Given the description of an element on the screen output the (x, y) to click on. 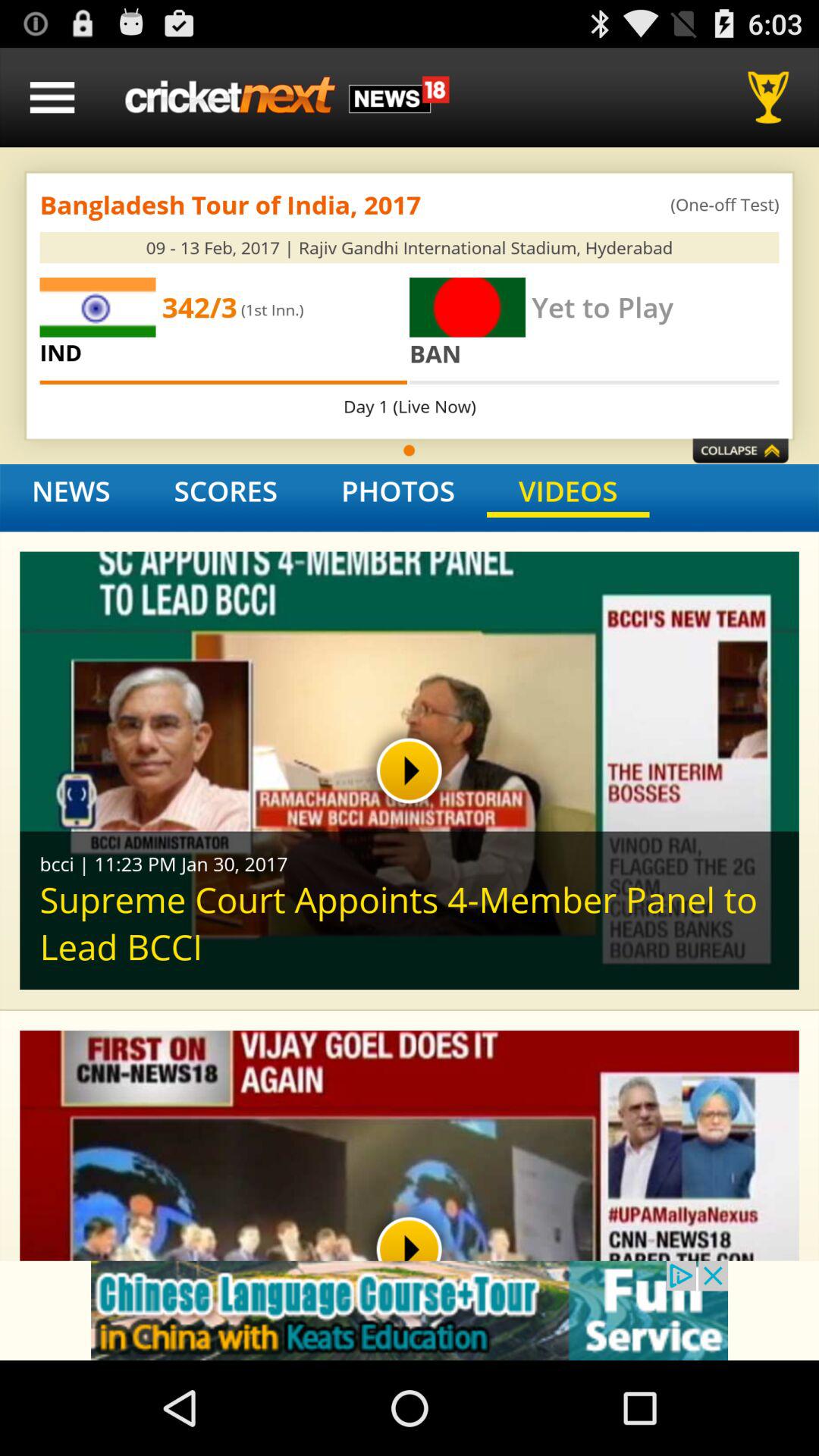
select search botton (773, 97)
